Given the description of an element on the screen output the (x, y) to click on. 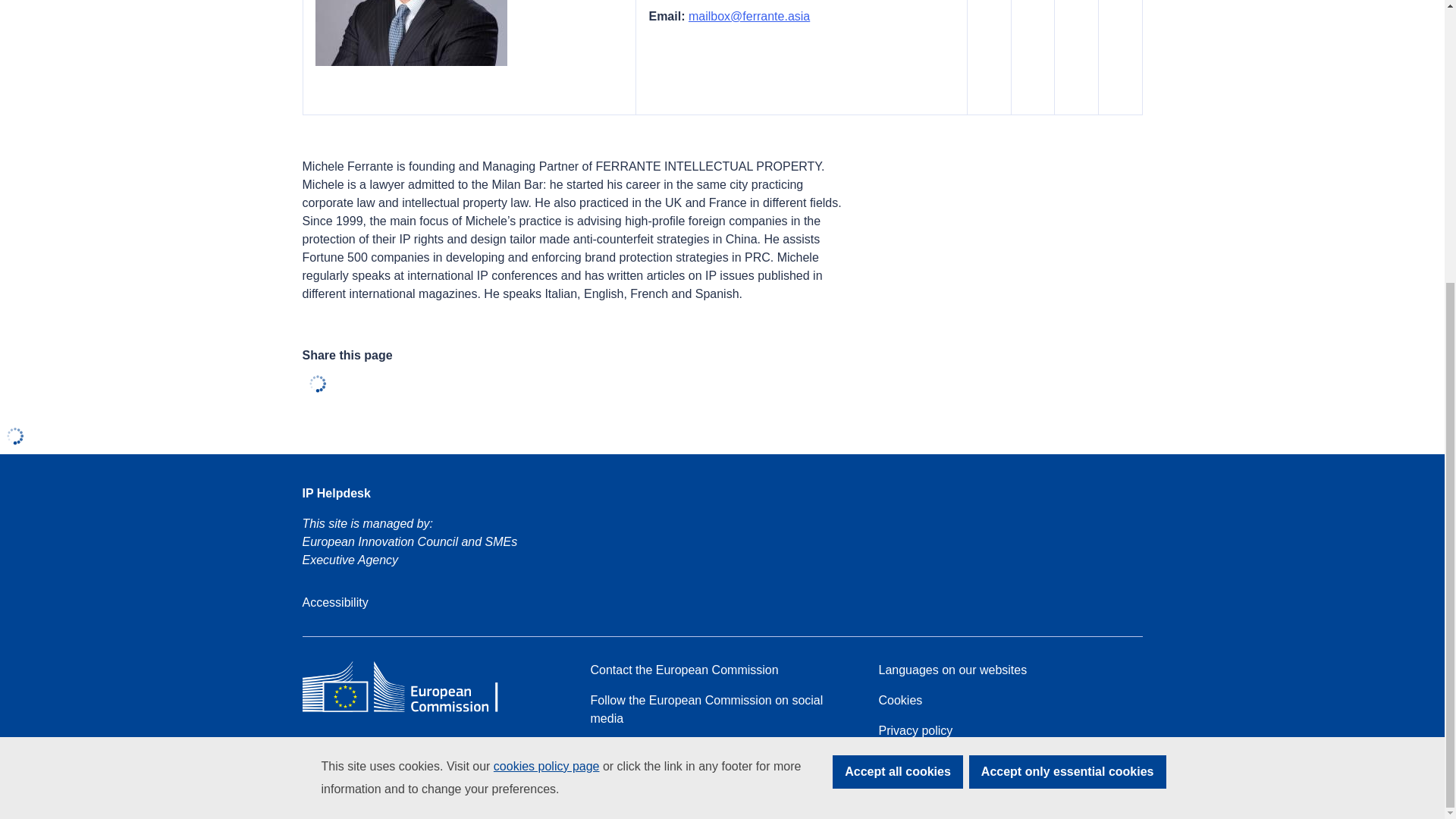
cookies policy page (546, 342)
European Commission (411, 711)
Accept only essential cookies (1067, 348)
Accept all cookies (897, 348)
